Given the description of an element on the screen output the (x, y) to click on. 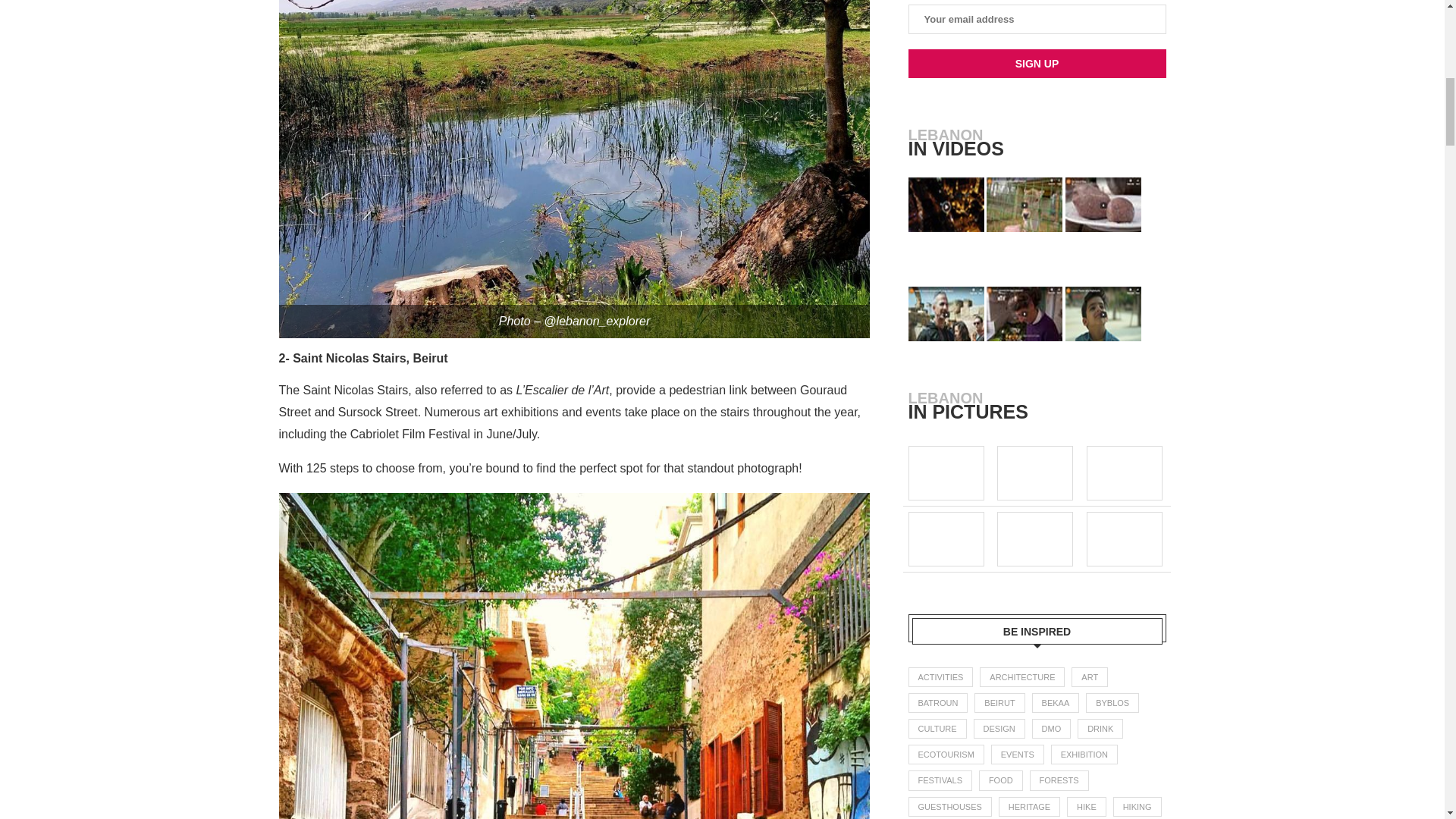
Sign up (1037, 63)
